Given the description of an element on the screen output the (x, y) to click on. 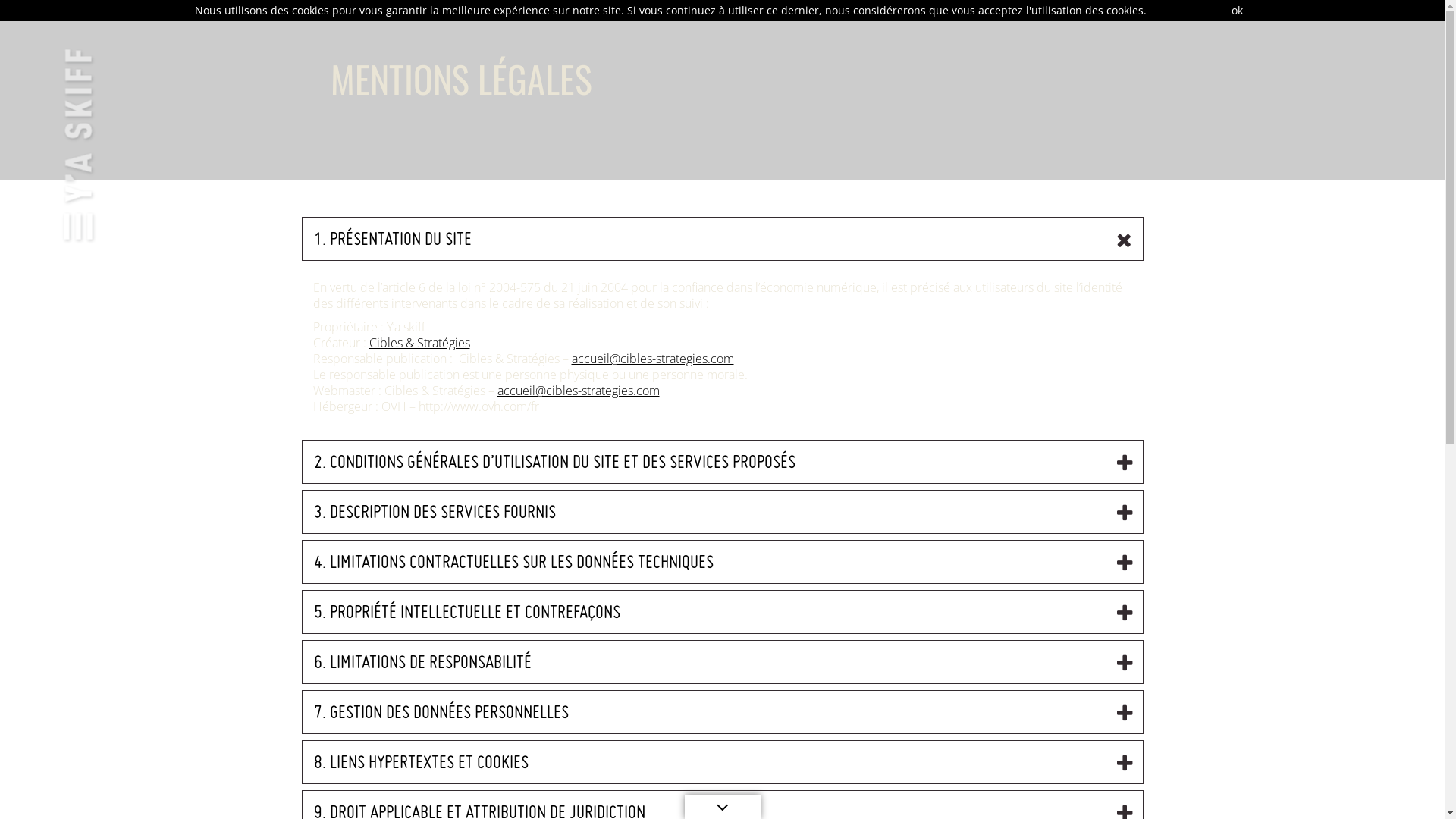
3. DESCRIPTION DES SERVICES FOURNIS Element type: text (721, 511)
ok Element type: text (1235, 10)
8. LIENS HYPERTEXTES ET COOKIES Element type: text (721, 761)
accueil@cibles-strategies.com Element type: text (578, 390)
accueil@cibles-strategies.com Element type: text (652, 358)
En savoir plus Element type: text (1184, 10)
